Given the description of an element on the screen output the (x, y) to click on. 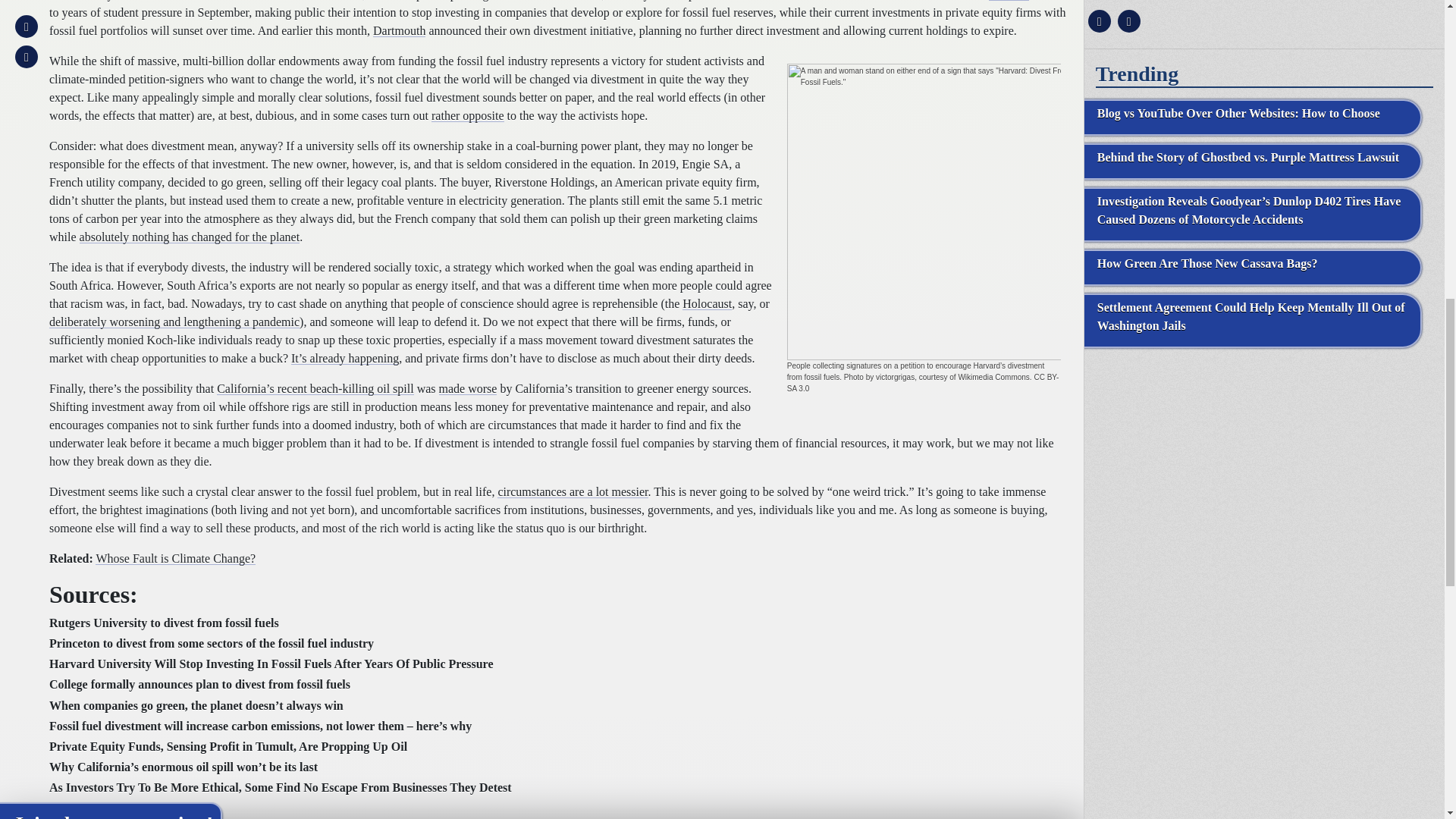
circumstances are a lot messier (572, 491)
Rutgers University to divest from fossil fuels (164, 622)
absolutely nothing has changed for the planet (189, 236)
Whose Fault is Climate Change? (176, 558)
rather opposite (466, 115)
Holocaust (707, 303)
Dartmouth (398, 30)
College formally announces plan to divest from fossil fuels (199, 684)
